Given the description of an element on the screen output the (x, y) to click on. 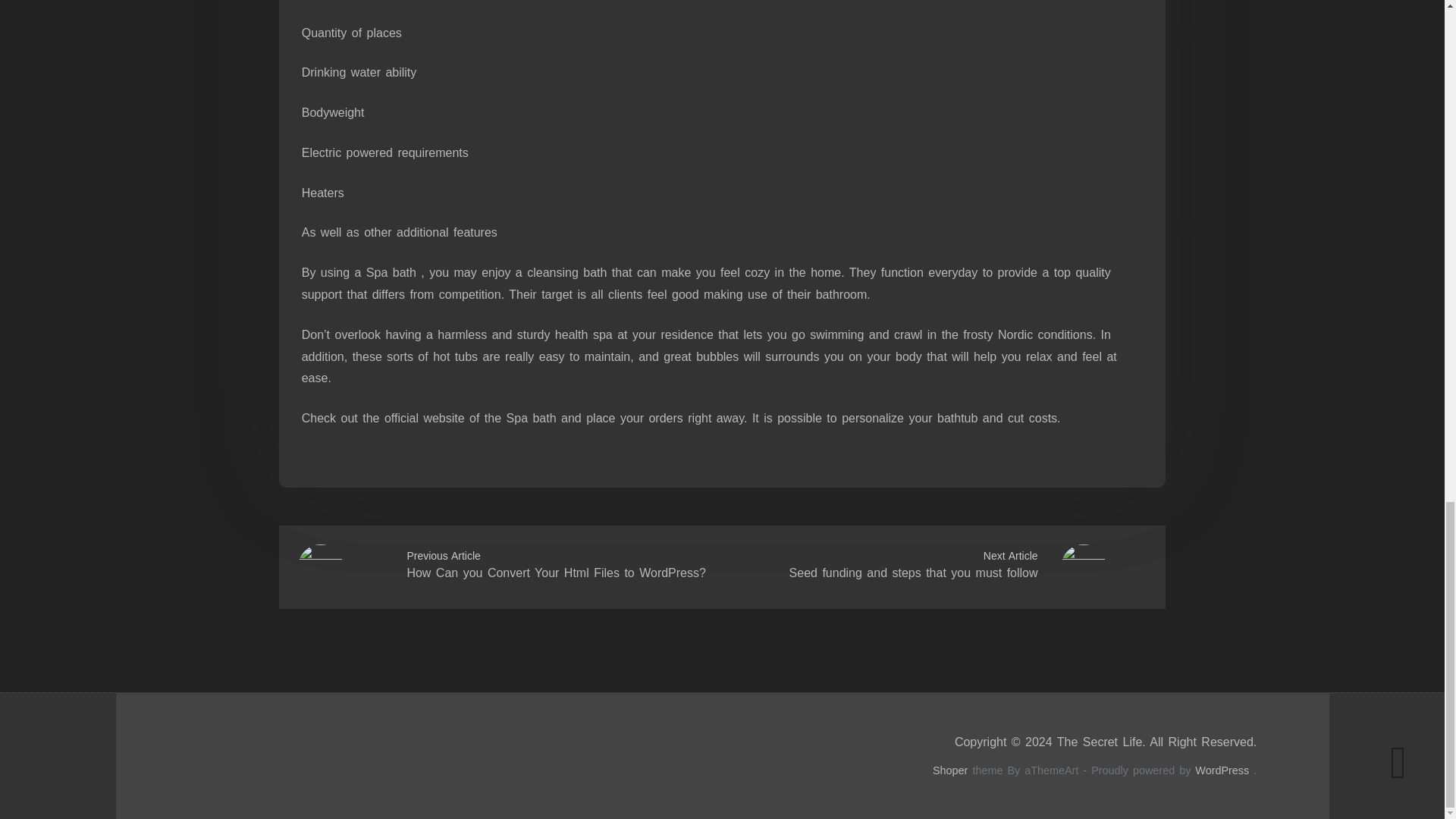
How Can you Convert Your Html Files to WordPress? (556, 572)
Seed funding and steps that you must follow (913, 572)
WordPress (1222, 770)
Shoper (950, 770)
